Given the description of an element on the screen output the (x, y) to click on. 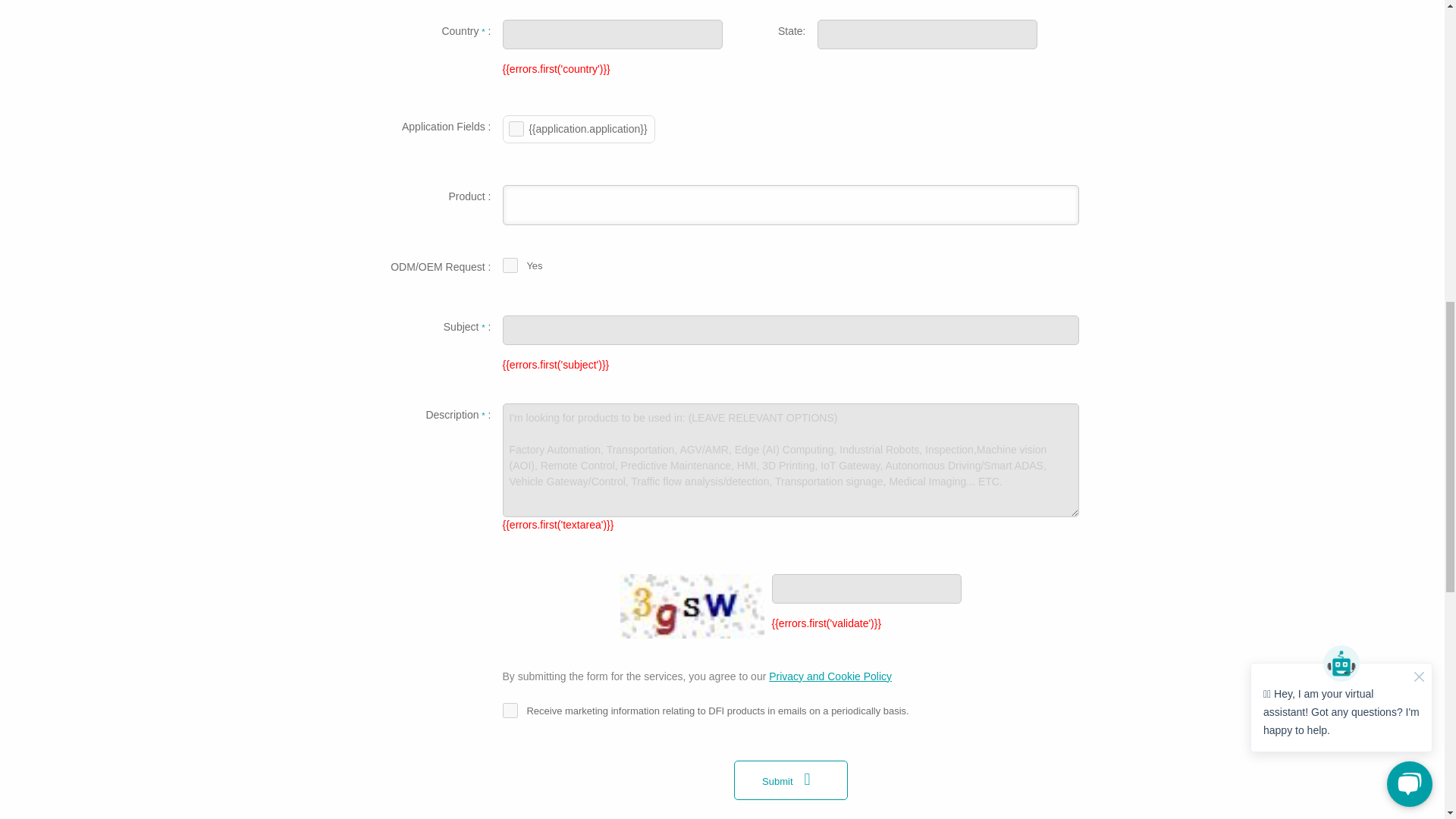
on (515, 128)
on (509, 710)
on (509, 264)
